Given the description of an element on the screen output the (x, y) to click on. 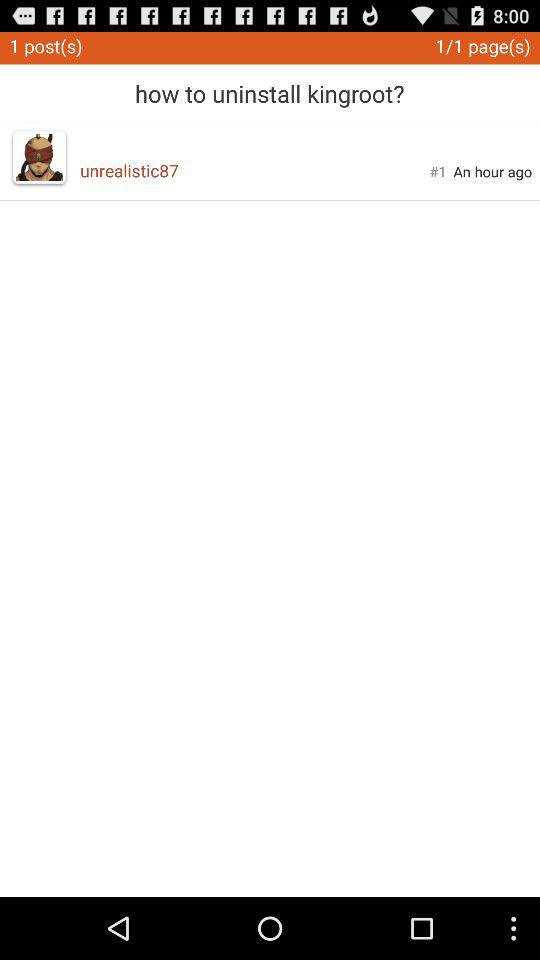
flip to how to uninstall app (269, 86)
